Given the description of an element on the screen output the (x, y) to click on. 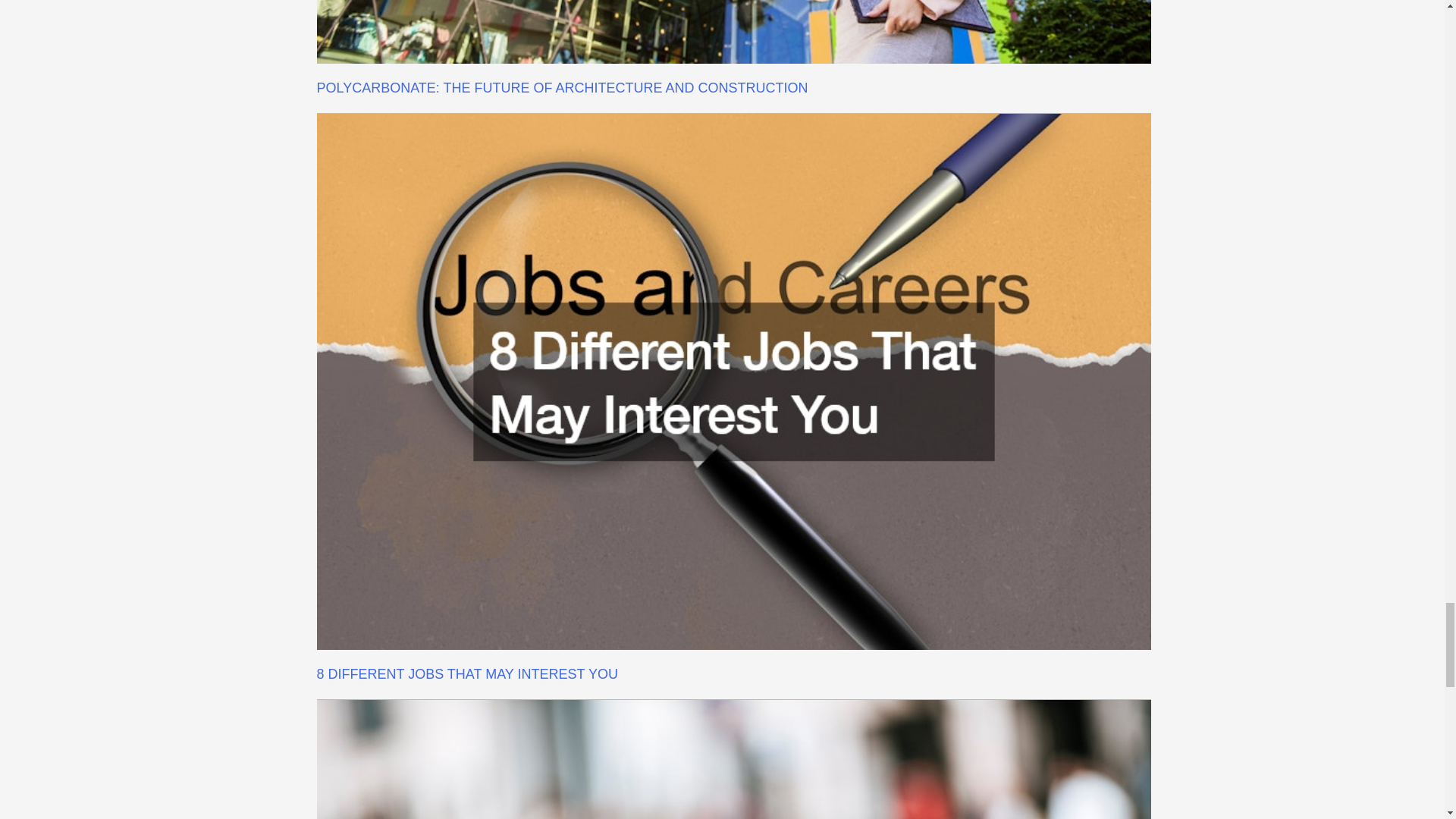
8 DIFFERENT JOBS THAT MAY INTEREST YOU (467, 673)
POLYCARBONATE: THE FUTURE OF ARCHITECTURE AND CONSTRUCTION (562, 87)
